Given the description of an element on the screen output the (x, y) to click on. 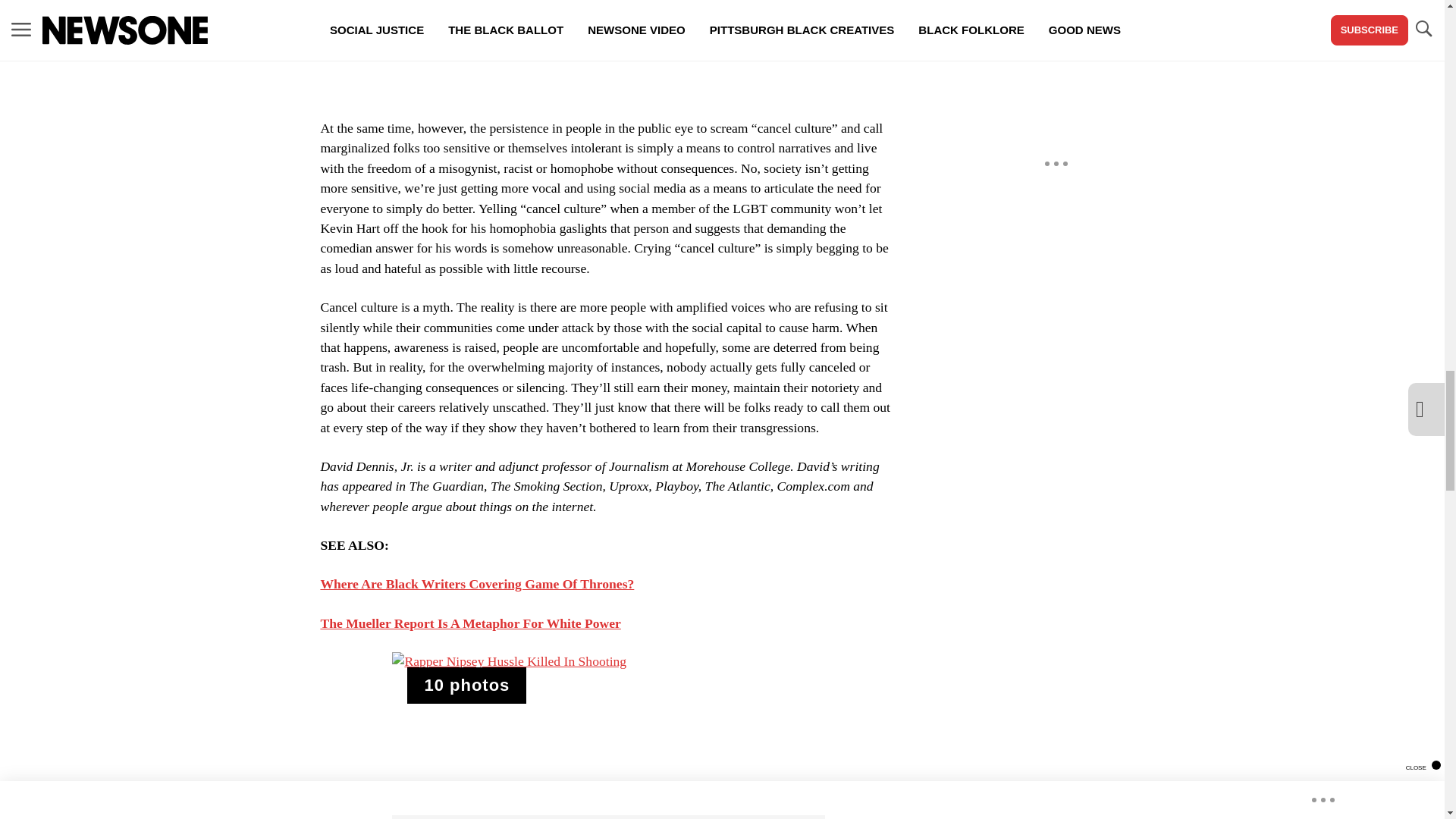
Media Playlist (466, 685)
The Mueller Report Is A Metaphor For White Power (470, 622)
Where Are Black Writers Covering Game Of Thrones? (476, 583)
